Given the description of an element on the screen output the (x, y) to click on. 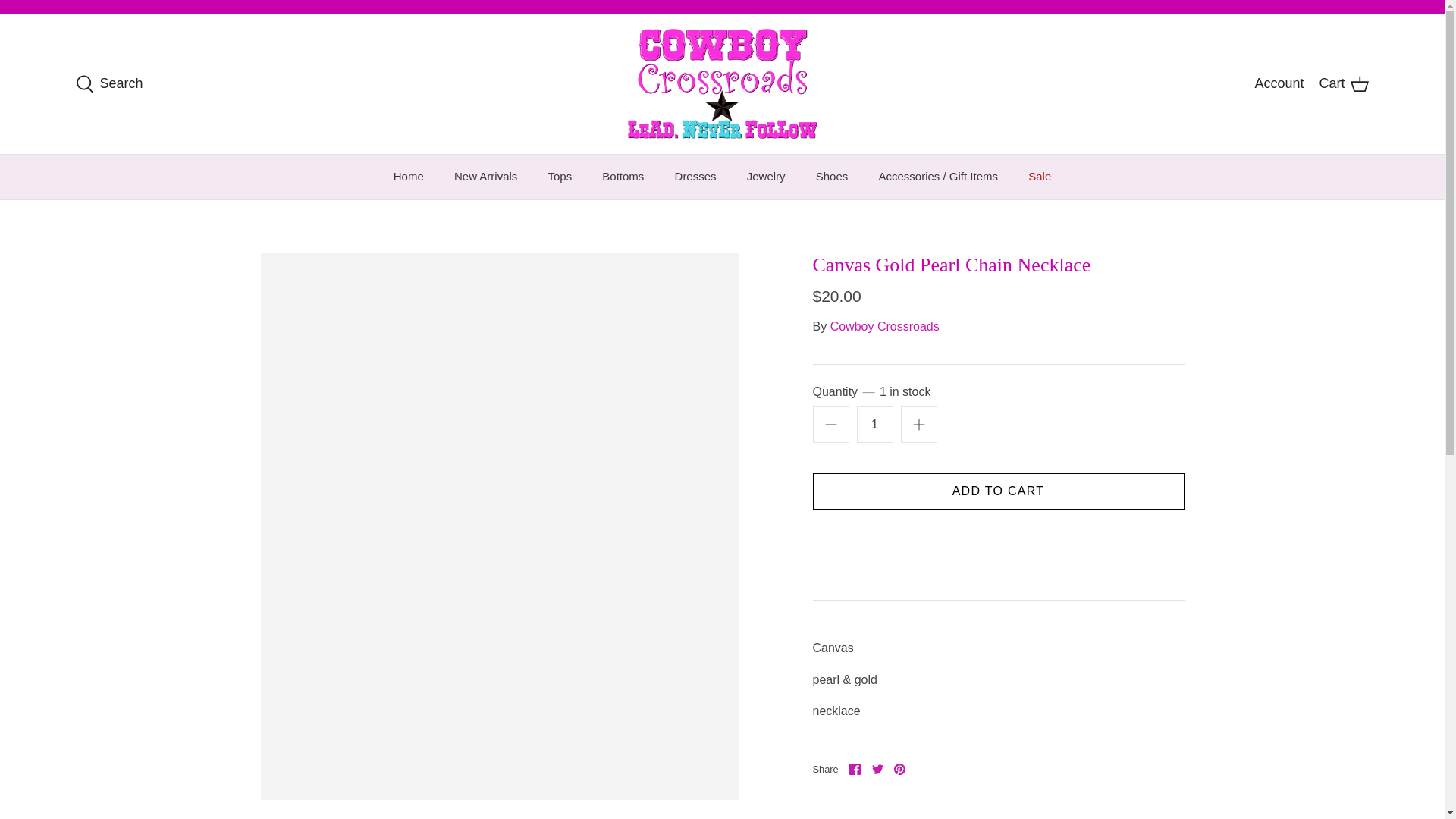
Cowboy Crossroads (721, 83)
Account (1278, 83)
Dresses (695, 176)
Add to Cart (998, 491)
Sale (1039, 176)
Home (877, 768)
Cowboy Crossroads (409, 176)
Tops (884, 326)
Shoes (559, 176)
